Given the description of an element on the screen output the (x, y) to click on. 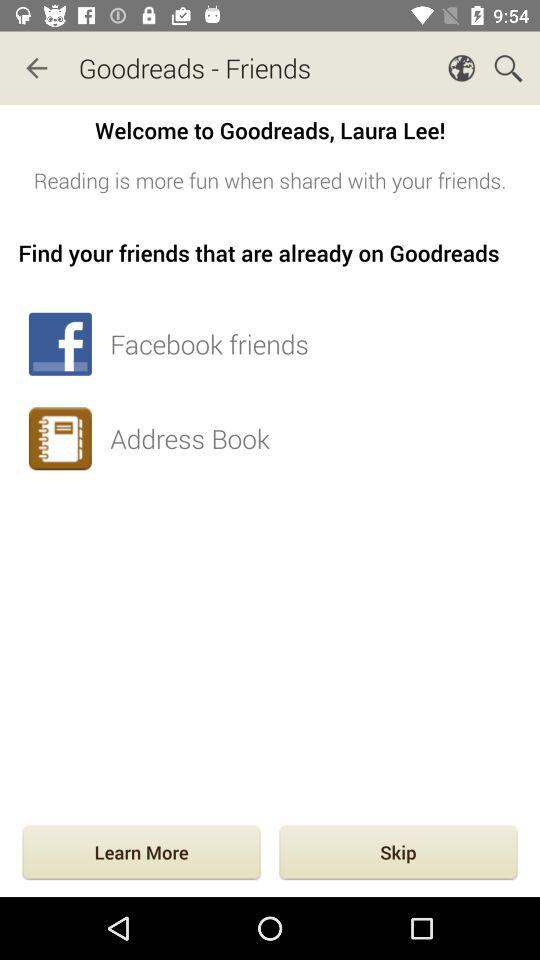
turn on the item to the left of skip item (141, 854)
